Given the description of an element on the screen output the (x, y) to click on. 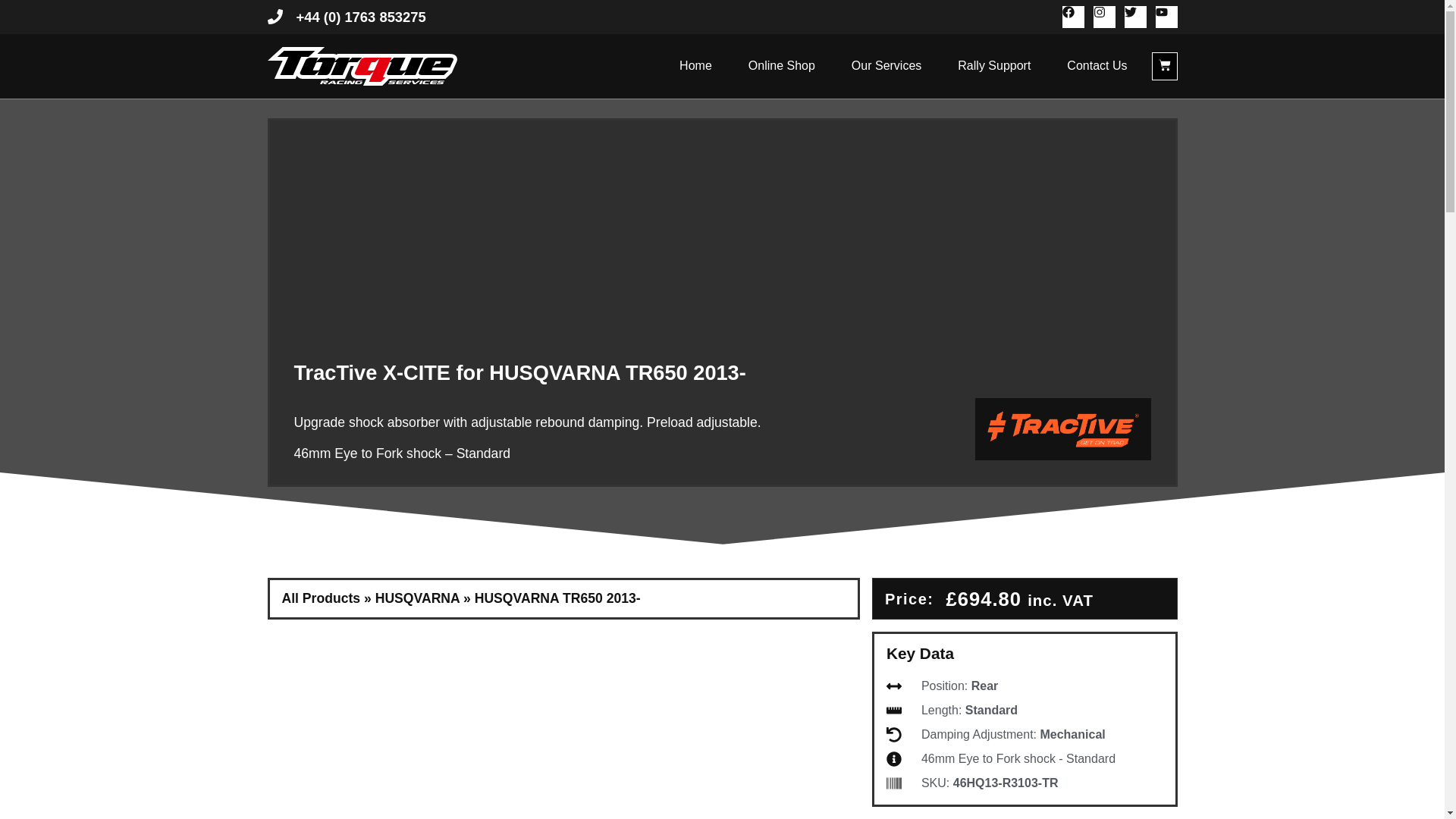
Rally Support (994, 65)
Our Services (886, 65)
Home (695, 65)
Online Shop (781, 65)
Contact Us (1096, 65)
HUSQVARNA TR650 2013- (557, 598)
HUSQVARNA (417, 598)
All Products (321, 598)
